Given the description of an element on the screen output the (x, y) to click on. 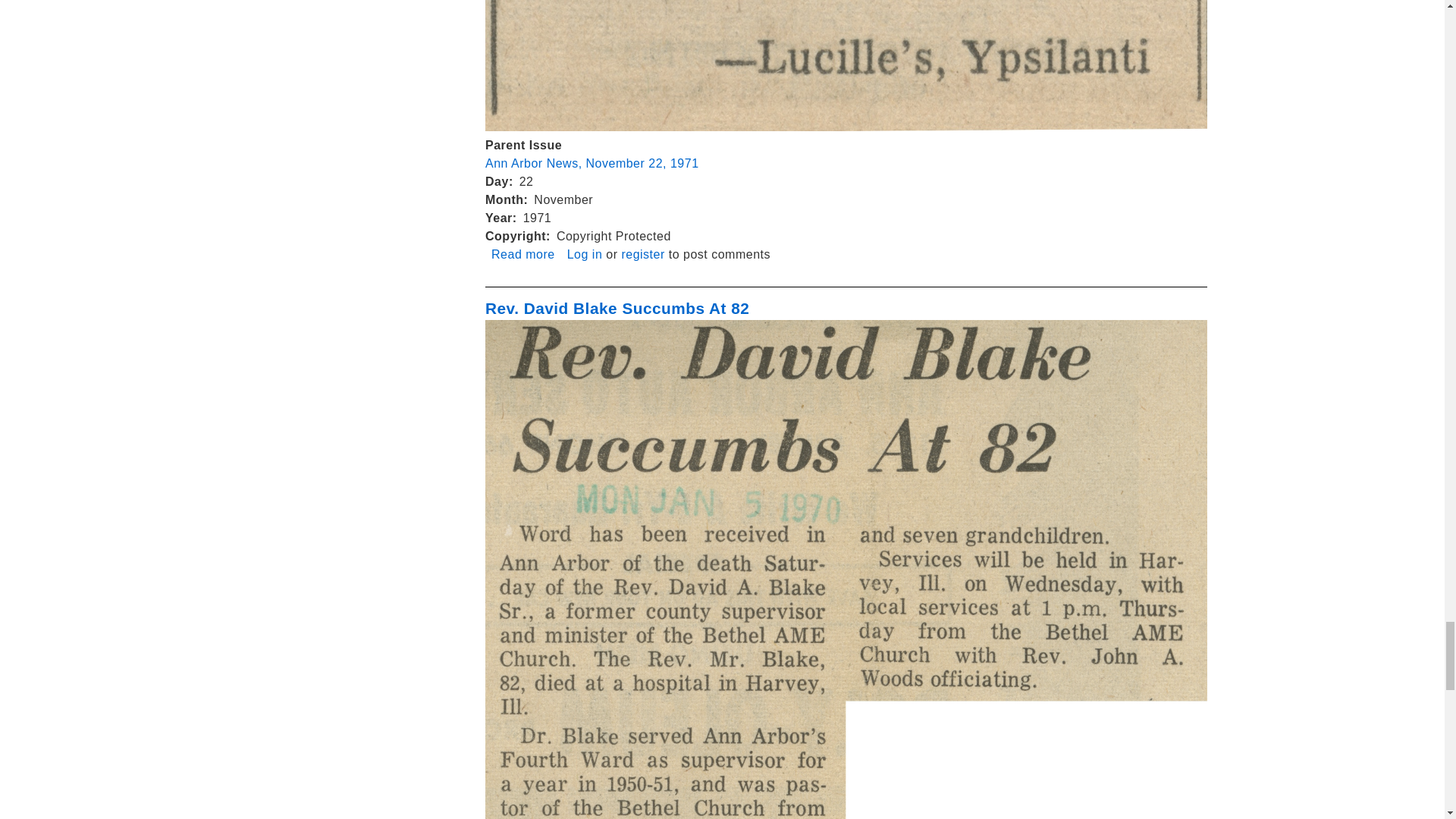
Log in (584, 254)
Ann Arbor News, November 22, 1971 (591, 163)
Rev. David Blake Succumbs At 82 (523, 254)
register (616, 307)
Blake, Miss Grayce E. (642, 254)
